Given the description of an element on the screen output the (x, y) to click on. 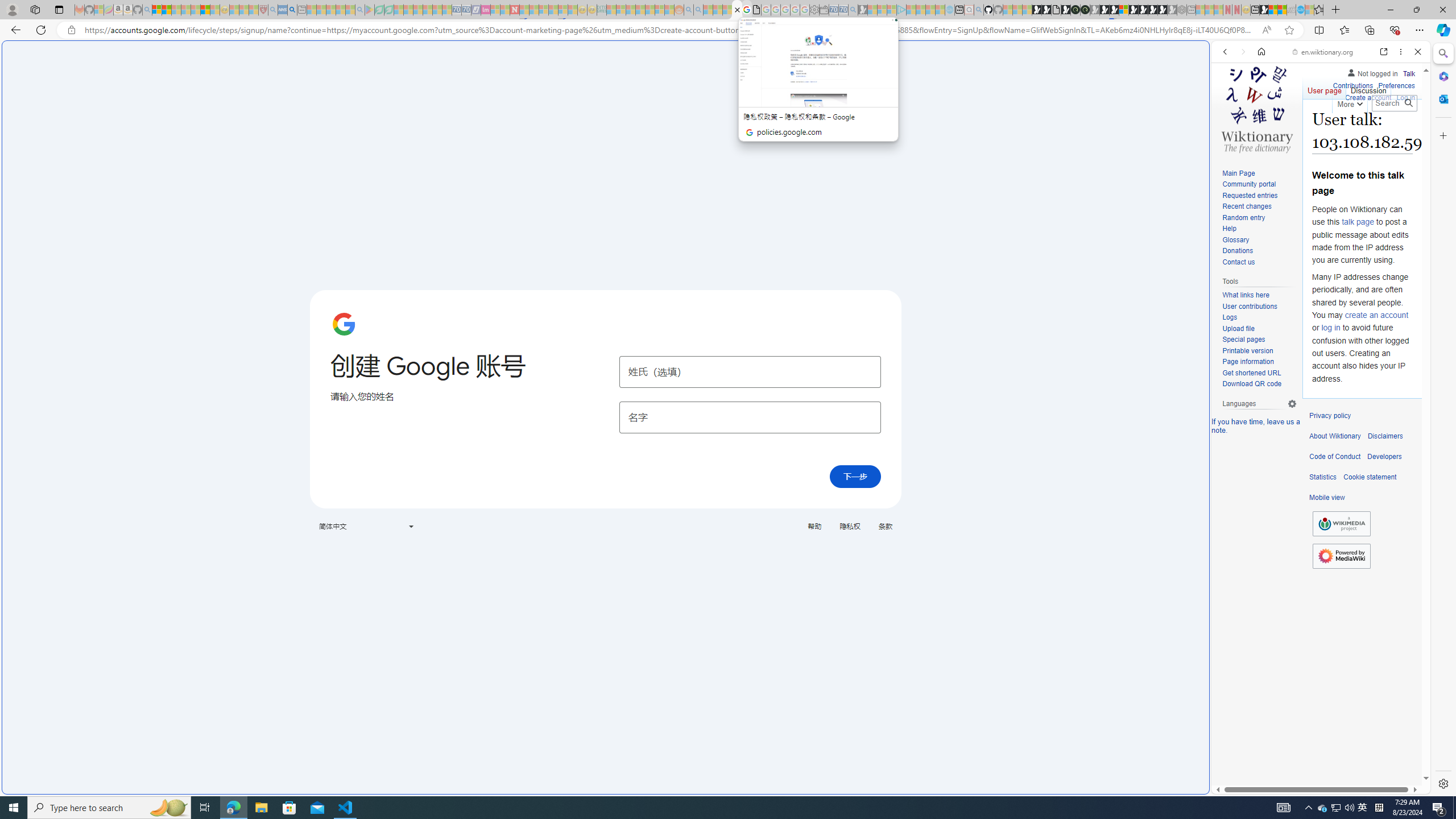
What links here (1245, 295)
Community portal (1259, 184)
Class: VfPpkd-t08AT-Bz112c-Bd00G (410, 526)
Page information (1247, 361)
User contributions (1259, 306)
